Given the description of an element on the screen output the (x, y) to click on. 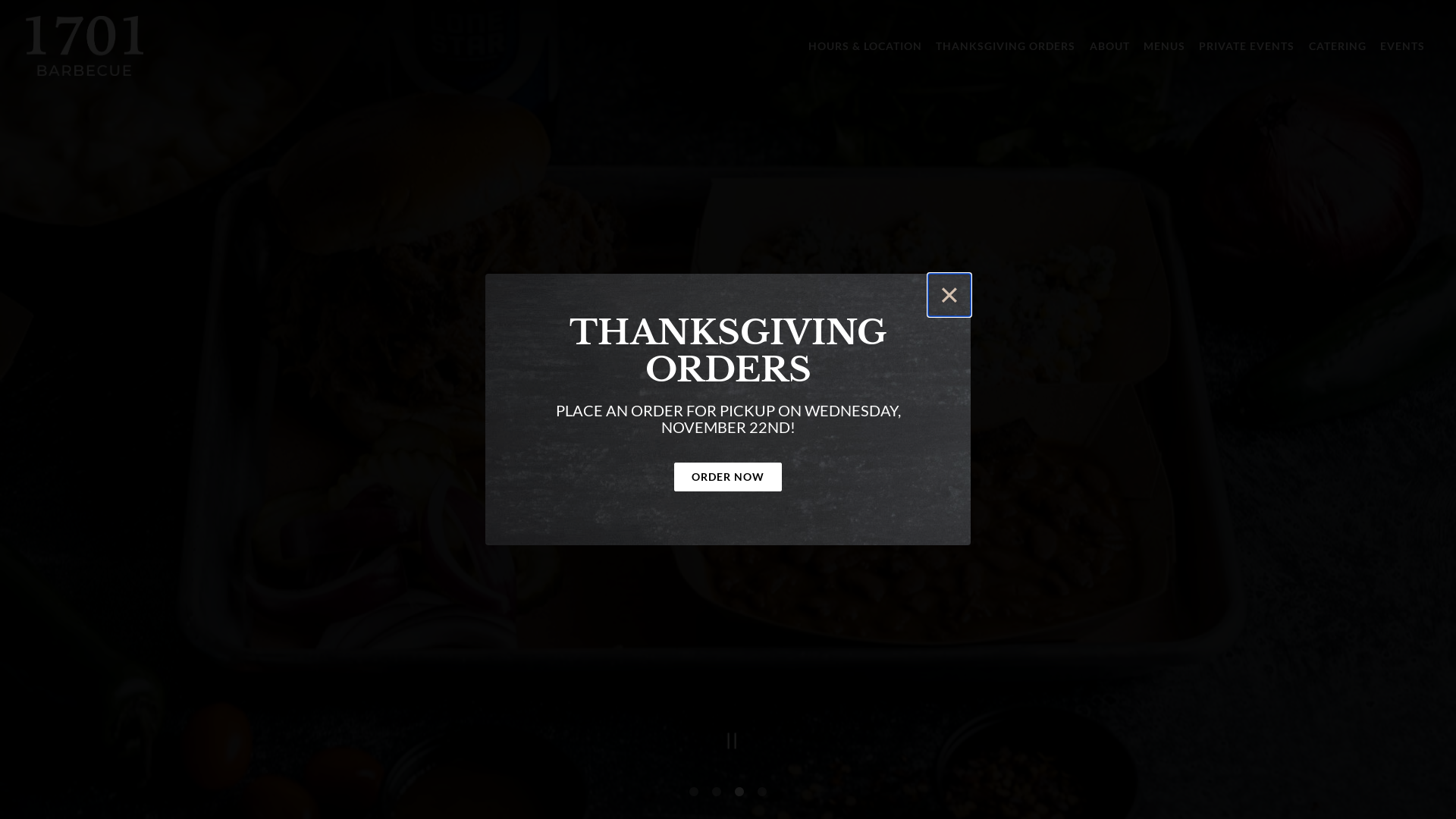
MENUS Element type: text (1164, 45)
ABOUT Element type: text (1108, 45)
ORDER NOW Element type: text (727, 476)
1 Element type: text (693, 792)
CATERING Element type: text (1336, 45)
HOURS & LOCATION Element type: text (865, 45)
THANKSGIVING ORDERS Element type: text (1005, 45)
PLAYING HERO GALLERY, PRESS TO PAUSE IMAGES SLIDES Element type: text (720, 744)
PRIVATE EVENTS Element type: text (1246, 45)
3 Element type: text (738, 792)
EVENTS Element type: text (1402, 45)
4 Element type: text (761, 792)
2 Element type: text (716, 792)
